Given the description of an element on the screen output the (x, y) to click on. 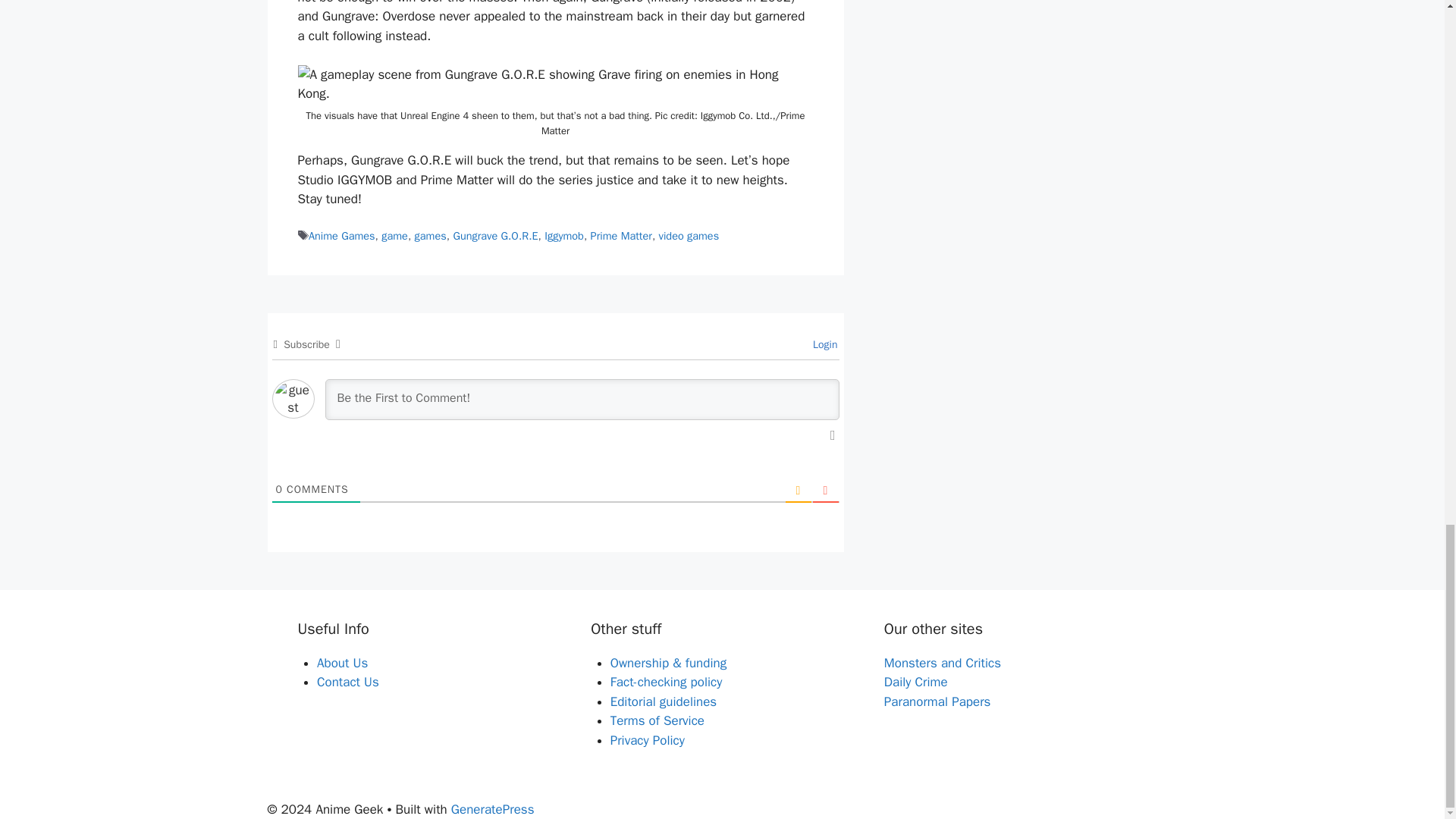
Gungrave G.O.R.E (494, 235)
Anime Games (341, 235)
Login (823, 344)
Iggymob (563, 235)
games (430, 235)
Prime Matter (621, 235)
game (394, 235)
video games (689, 235)
